Given the description of an element on the screen output the (x, y) to click on. 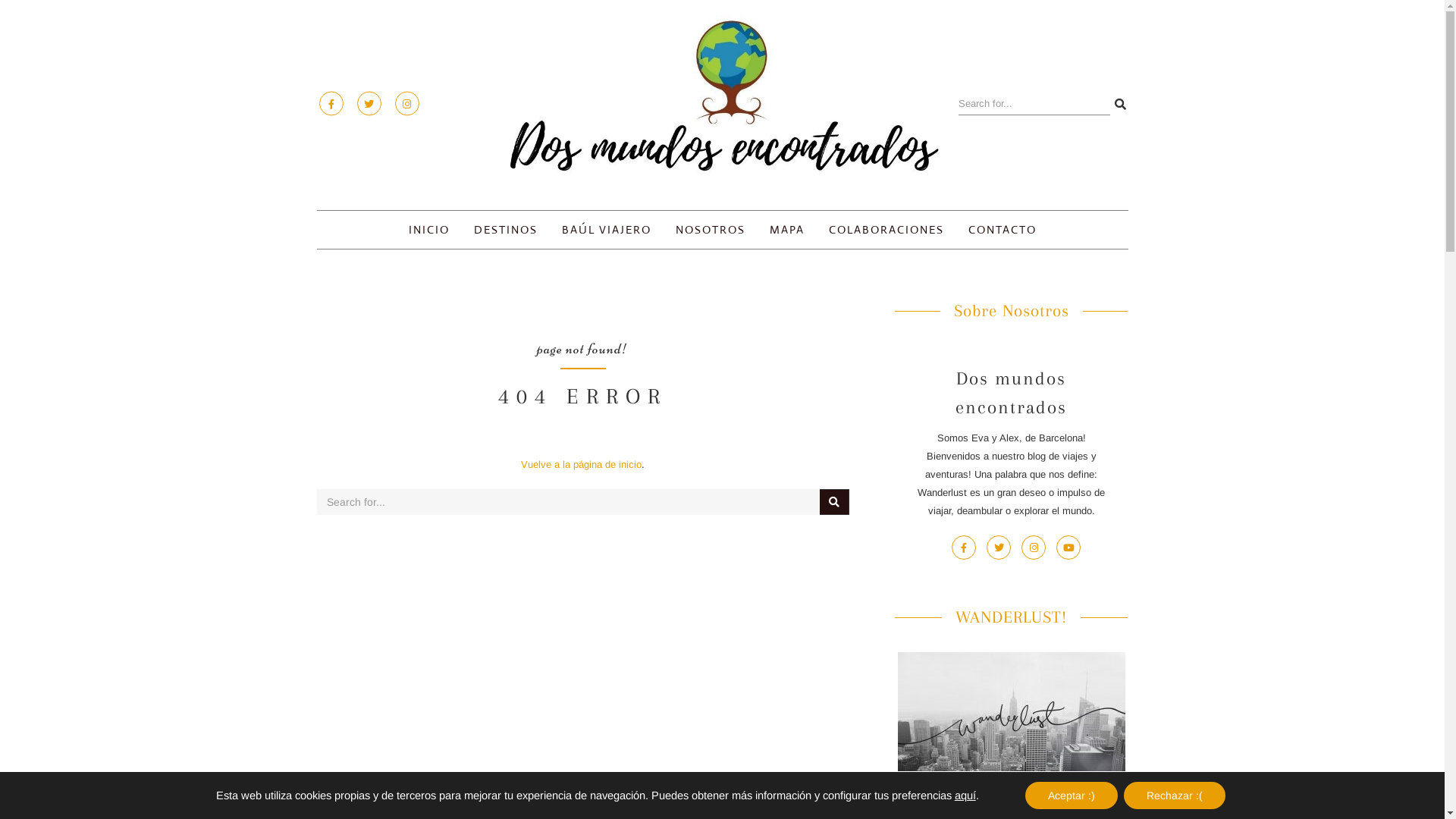
COLABORACIONES Element type: text (886, 229)
Aceptar :) Element type: text (1071, 795)
NOSOTROS Element type: text (710, 229)
DESTINOS Element type: text (505, 229)
Rechazar :( Element type: text (1174, 795)
INICIO Element type: text (428, 229)
MAPA Element type: text (786, 229)
CONTACTO Element type: text (1002, 229)
